Given the description of an element on the screen output the (x, y) to click on. 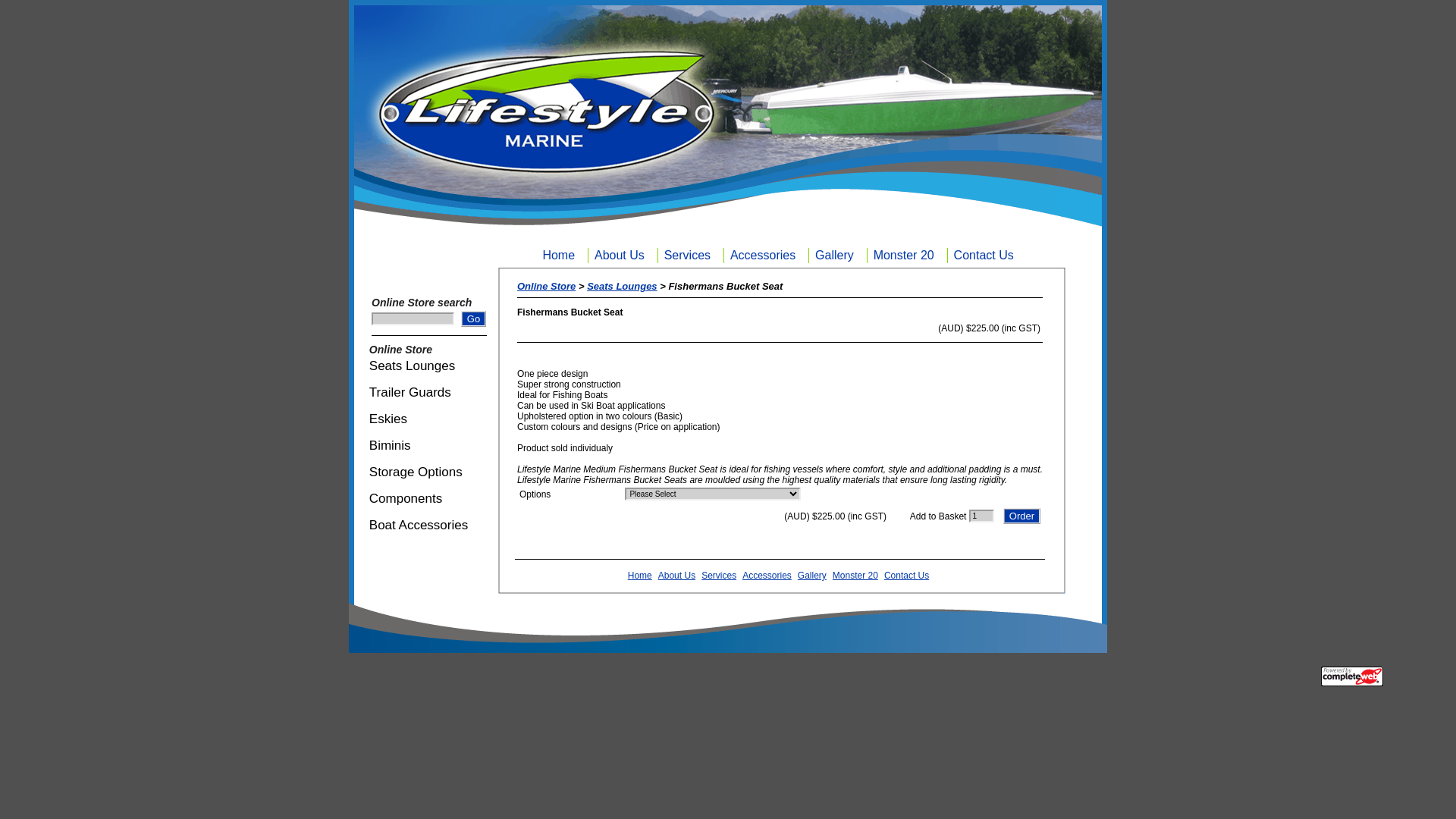
Home   Element type: text (561, 255)
Lifestyle marine Element type: hover (1082, 136)
Lifestyle marine Element type: hover (426, 136)
Accessories   Element type: text (766, 255)
Monster 20   Element type: text (907, 254)
Contact Us   Element type: text (986, 255)
Lifestyle marine Element type: hover (426, 620)
Eskies               Element type: text (413, 418)
Monster 20   Element type: text (907, 255)
About Us   Element type: text (622, 255)
Contact Us   Element type: text (986, 254)
Lifestyle marine Element type: hover (782, 620)
Online Store Element type: text (546, 285)
About Us Element type: text (676, 575)
Lifestyle marine Element type: hover (781, 123)
Gallery   Element type: text (837, 254)
Seats Lounges Element type: text (621, 285)
Home Element type: text (639, 575)
Accessories Element type: text (766, 575)
Order Element type: text (1021, 516)
About Us   Element type: text (622, 254)
Contact Us Element type: text (906, 575)
Services Element type: text (718, 575)
Services   Element type: text (690, 255)
Trailer Guards       Element type: text (420, 392)
Storage Options      Element type: text (424, 471)
Go Element type: text (473, 318)
Boat Accessories     Element type: text (425, 524)
Seats Lounges      Element type: text (421, 365)
Accessories   Element type: text (766, 254)
Home   Element type: text (561, 254)
Gallery Element type: text (811, 575)
Lifestyle marine Element type: hover (1083, 620)
Components           Element type: text (423, 498)
Gallery   Element type: text (837, 255)
Services   Element type: text (690, 254)
Biminis              Element type: text (413, 445)
Monster 20 Element type: text (855, 575)
